Given the description of an element on the screen output the (x, y) to click on. 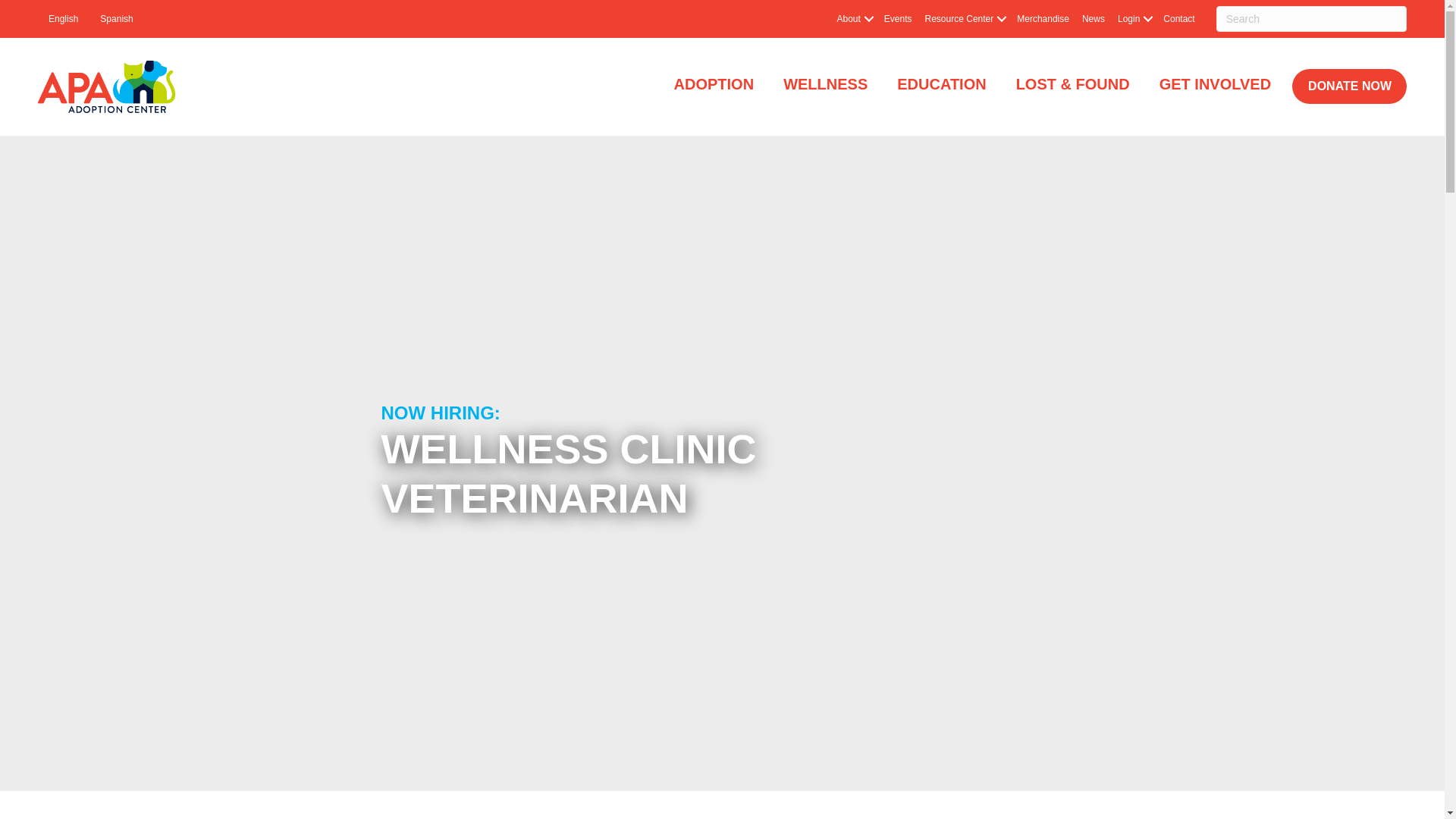
English (62, 19)
Spanish (115, 19)
Resource Center (964, 18)
About (852, 18)
Merchandise (1042, 18)
Login (1134, 18)
News (1092, 18)
Events (897, 18)
Contact (1178, 18)
Type and press Enter to search. (1310, 18)
APA Adoption Center Logo (105, 86)
